Given the description of an element on the screen output the (x, y) to click on. 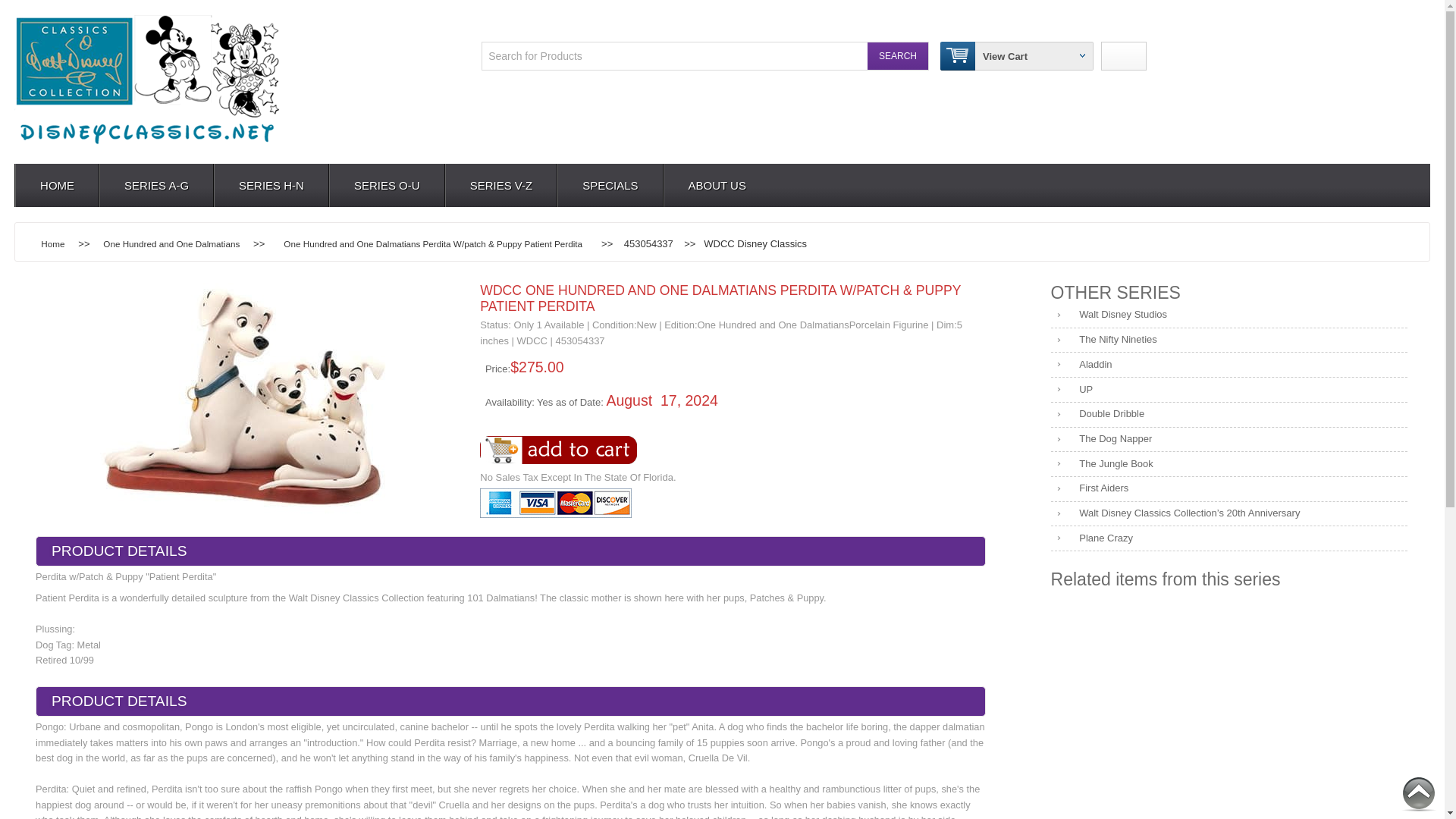
SEARCH (897, 55)
HOME (56, 185)
SPECIALS (609, 185)
Home (52, 243)
Aladdin (1229, 364)
View my shopping cart (1004, 55)
SERIES A-G (155, 185)
The Nifty Nineties (1229, 340)
SEARCH (897, 55)
One Hundred and One Dalmatians (171, 243)
